Given the description of an element on the screen output the (x, y) to click on. 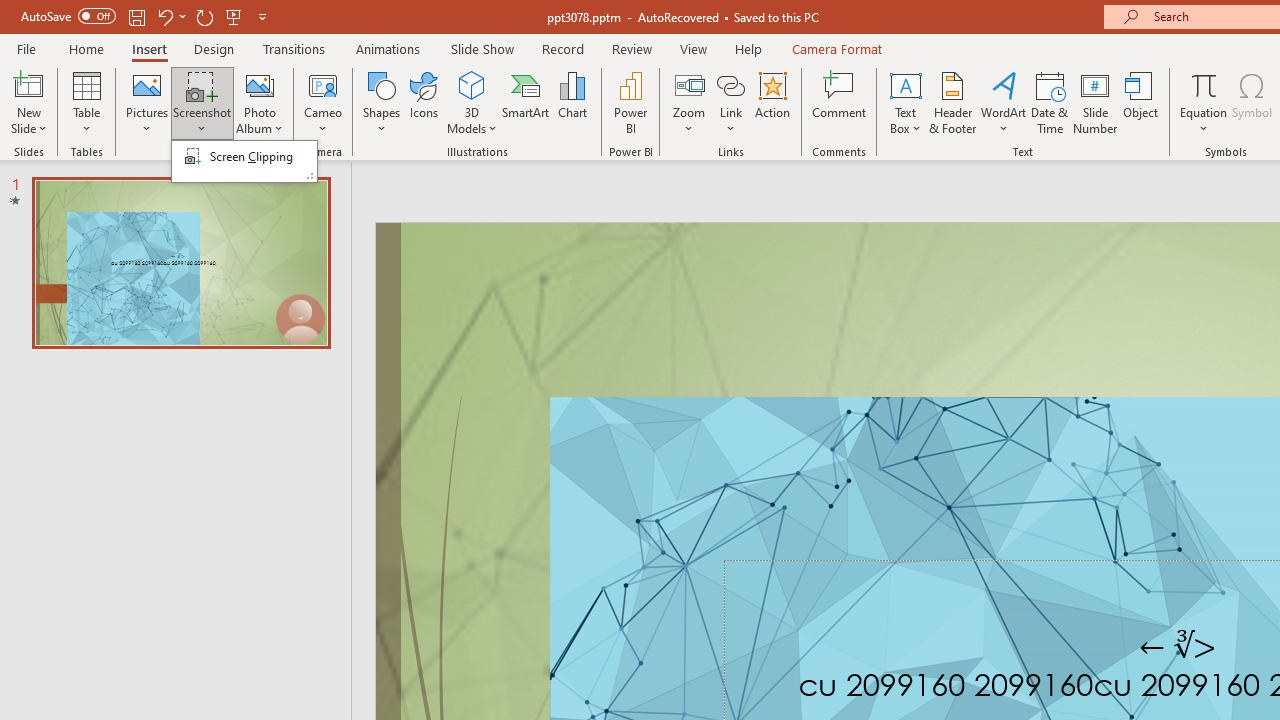
Photo Album... (259, 102)
Camera Format (836, 48)
